Given the description of an element on the screen output the (x, y) to click on. 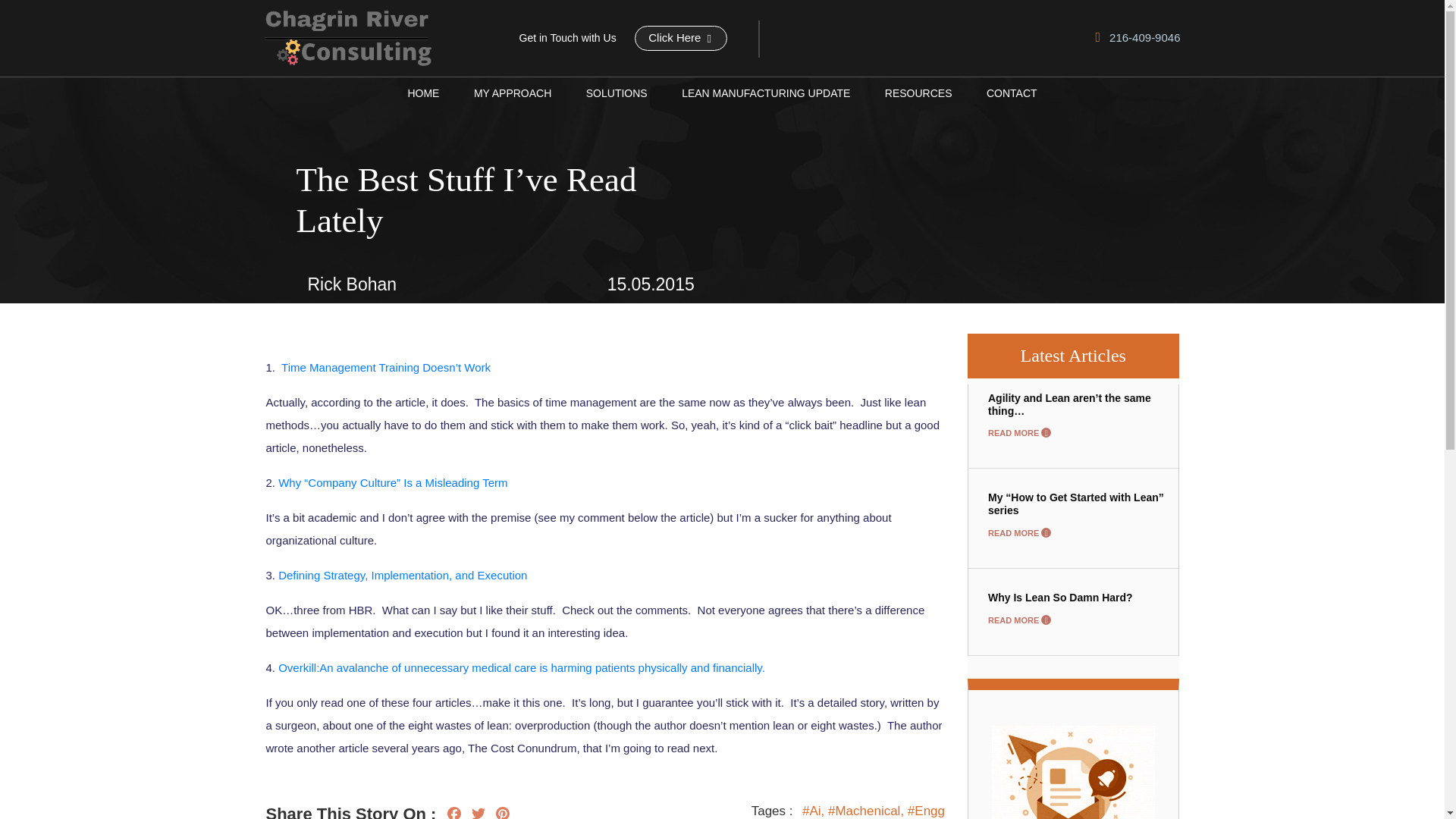
LEAN MANUFACTURING UPDATE (765, 92)
READ MORE (1019, 432)
Facebook (453, 811)
216-409-9046 (1136, 37)
Facebook (453, 811)
HOME (423, 92)
Click Here (680, 37)
CONTACT (1011, 92)
Pinterest (502, 811)
RESOURCES (918, 92)
SOLUTIONS (616, 92)
Twitter (477, 811)
READ MORE (1019, 619)
Twitter (477, 811)
